Given the description of an element on the screen output the (x, y) to click on. 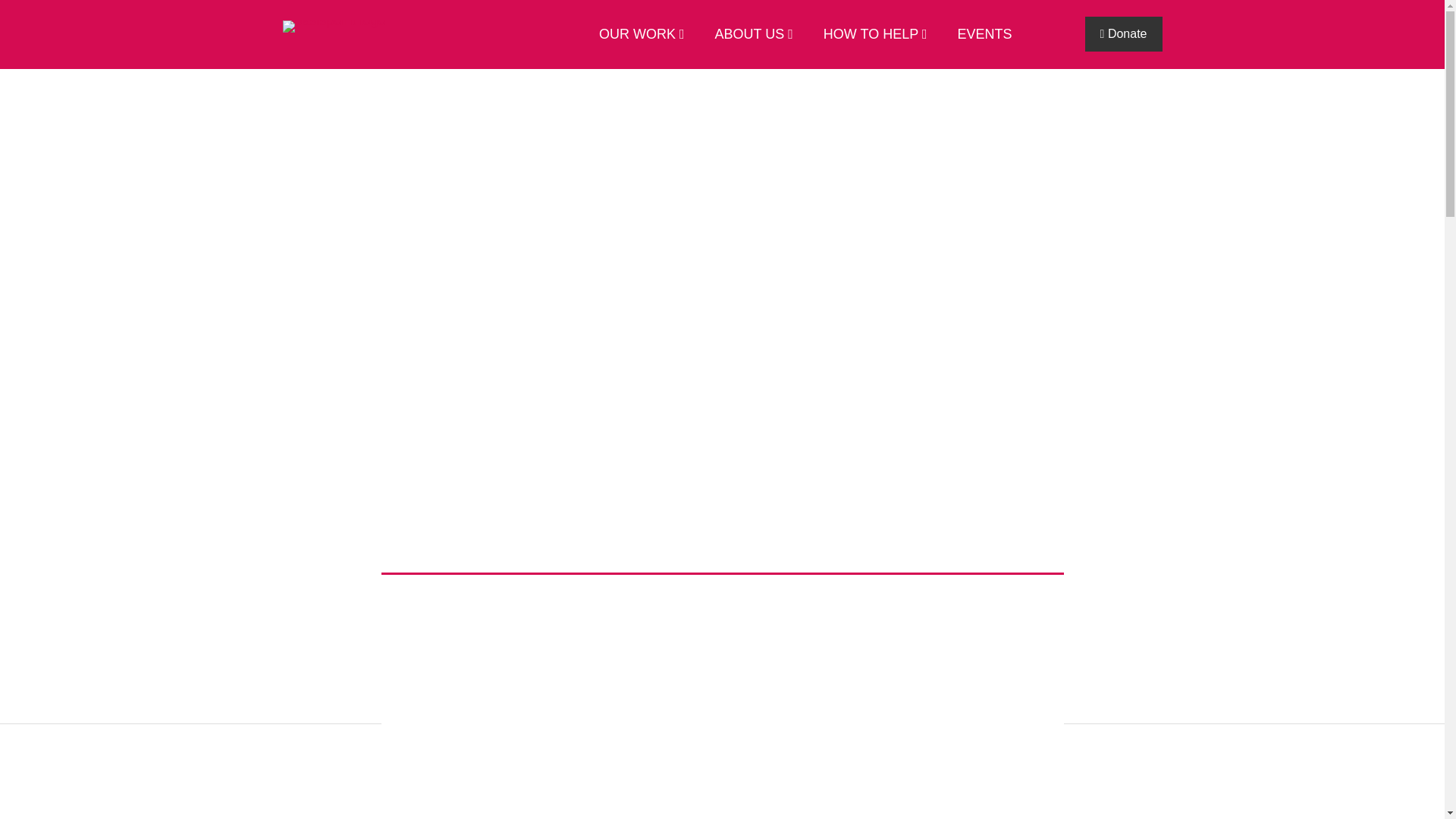
OUR WORK (634, 34)
HOW TO HELP (867, 34)
ABOUT US (746, 34)
basispoint logo (333, 26)
EVENTS (976, 34)
